Given the description of an element on the screen output the (x, y) to click on. 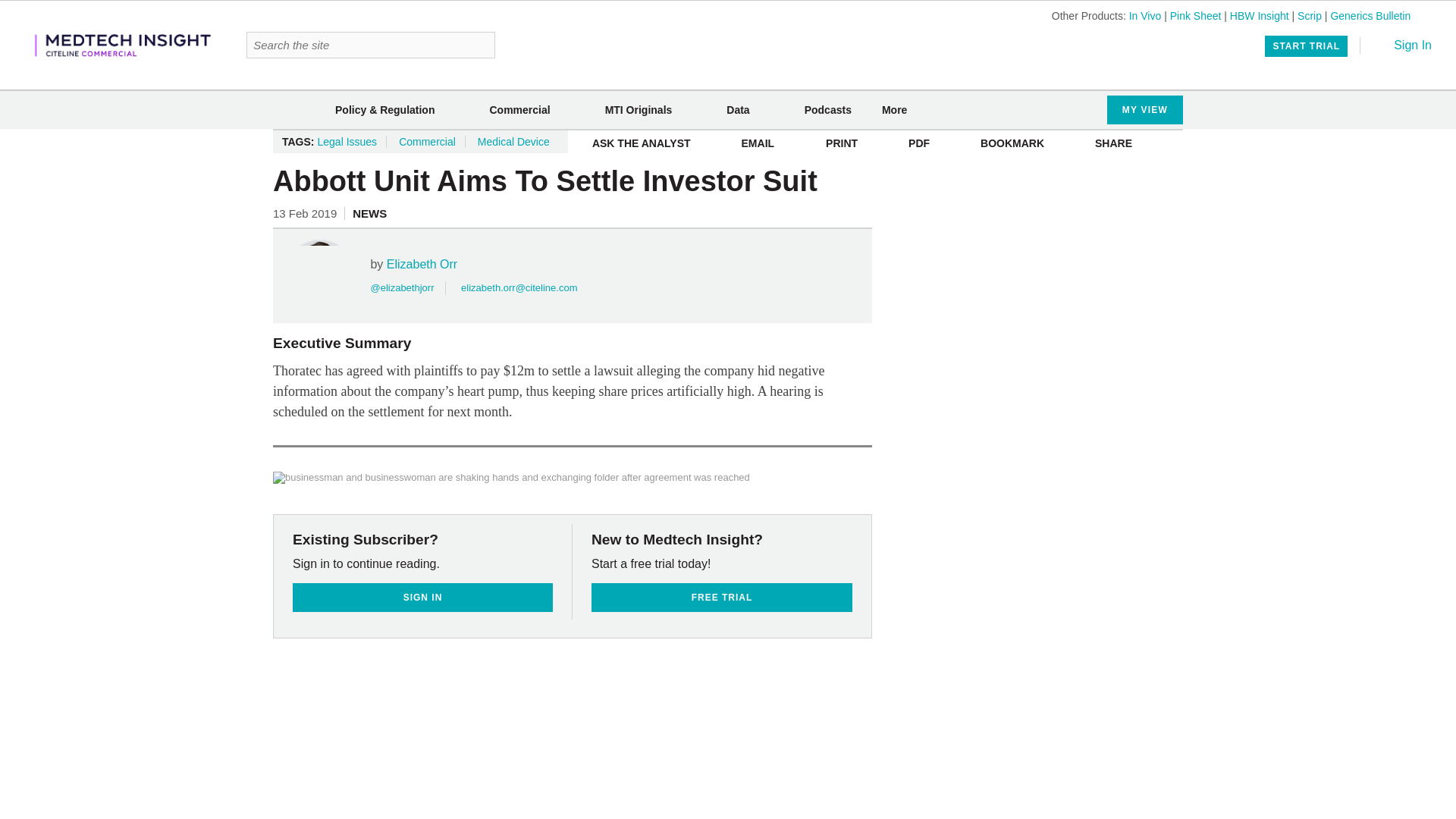
In Vivo (1145, 15)
Commercial (519, 110)
Scrip (1309, 15)
Generics Bulletin (1370, 15)
HBW Insight (1259, 15)
Sign In (1402, 44)
START TRIAL (1306, 46)
Pink Sheet (1195, 15)
